Given the description of an element on the screen output the (x, y) to click on. 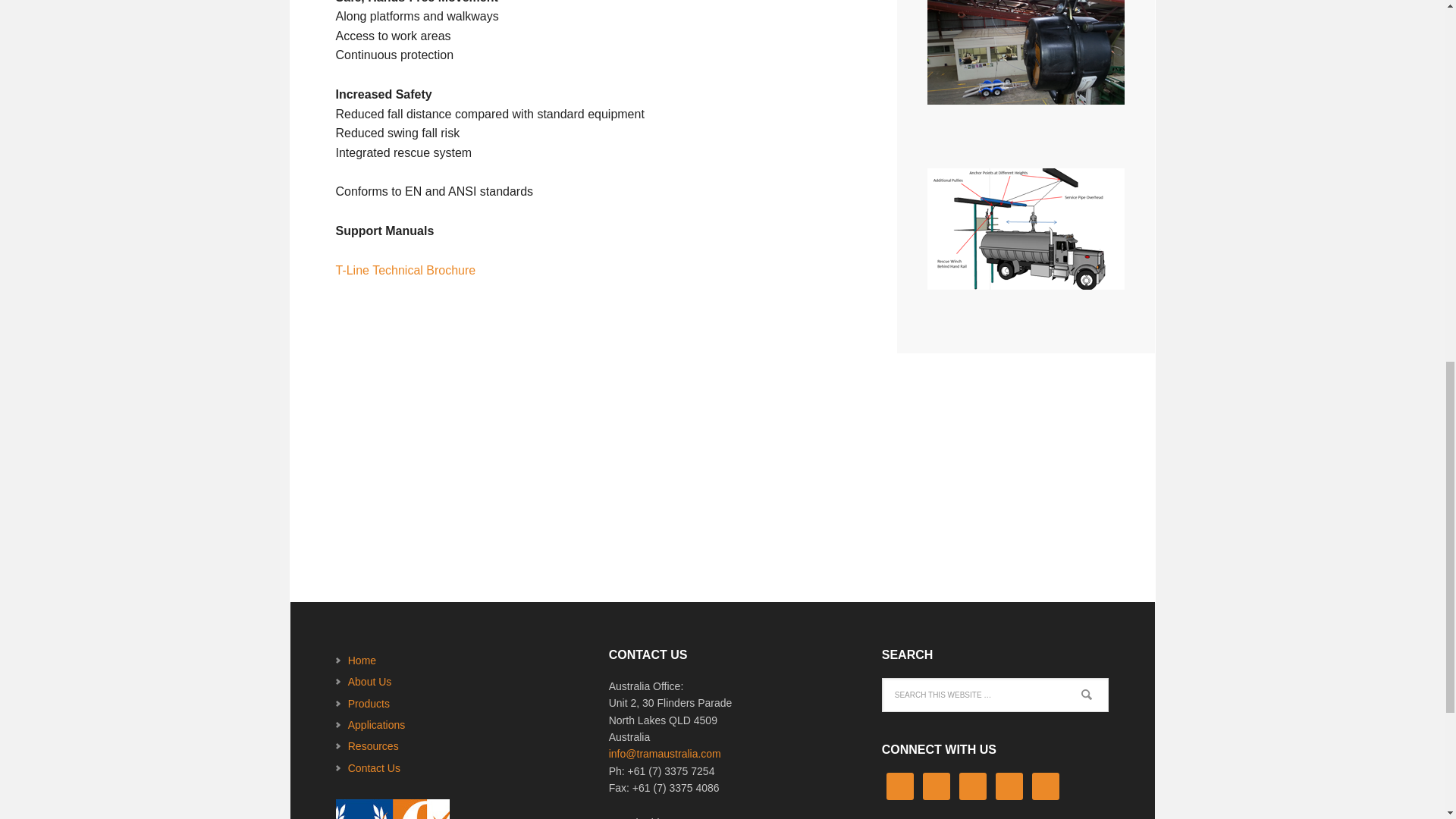
Resources (372, 746)
Applications (376, 725)
About Us (369, 681)
T-Line Technical Brochure (405, 269)
Contact Us (373, 767)
Products (368, 703)
Home (361, 660)
